Given the description of an element on the screen output the (x, y) to click on. 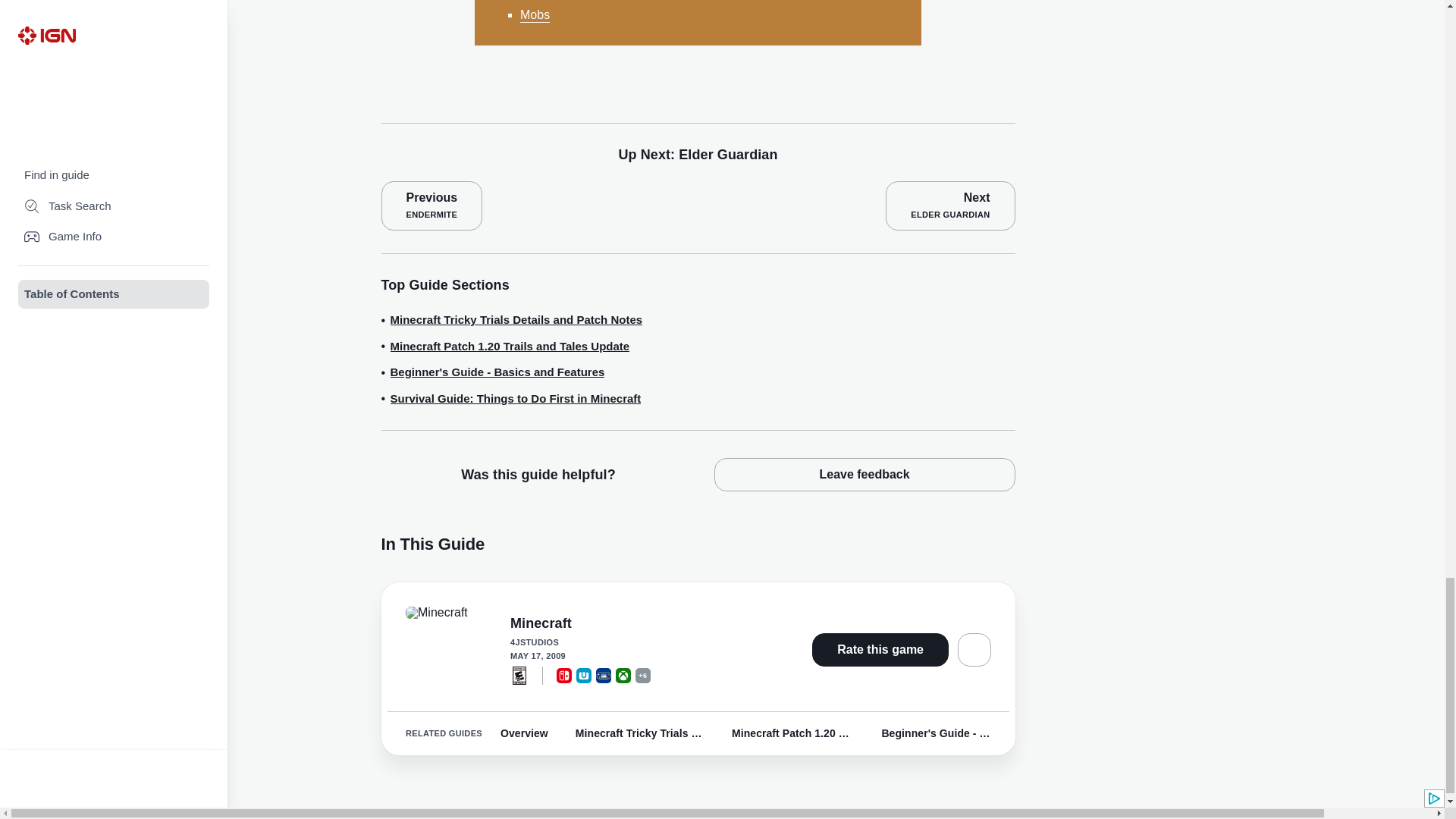
Wii U (583, 675)
Nintendo Switch (564, 675)
PlayStation Vita (603, 675)
Xbox One (622, 675)
